Given the description of an element on the screen output the (x, y) to click on. 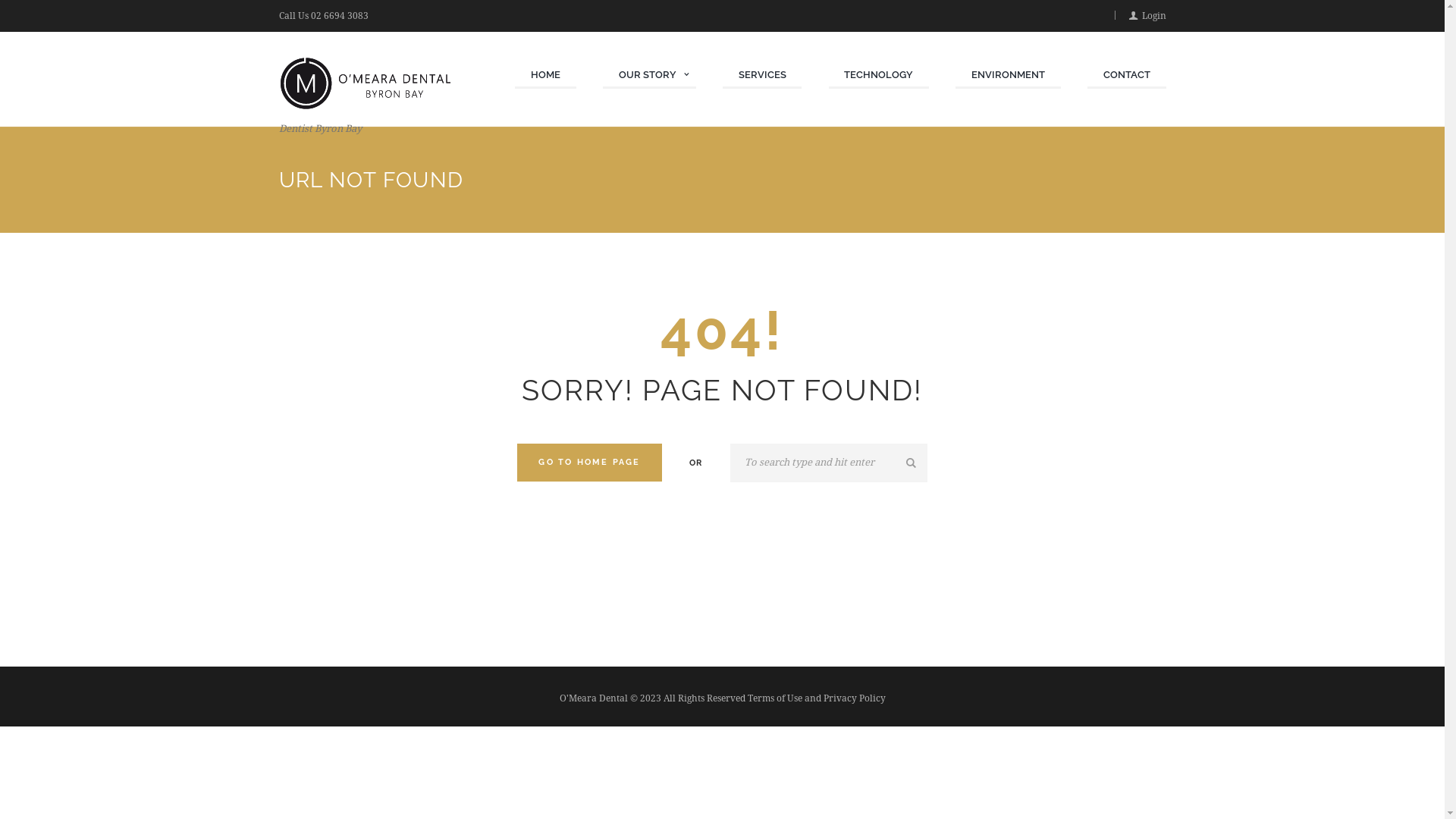
Start search Element type: hover (912, 463)
GO TO HOME PAGE Element type: text (589, 462)
HOME Element type: text (545, 75)
Login Element type: text (1146, 15)
OUR STORY Element type: text (649, 75)
TECHNOLOGY Element type: text (878, 75)
CONTACT Element type: text (1126, 75)
02 6694 3083 Element type: text (339, 15)
SERVICES Element type: text (762, 75)
Dentist Byron Bay Element type: text (373, 97)
ENVIRONMENT Element type: text (1007, 75)
